Given the description of an element on the screen output the (x, y) to click on. 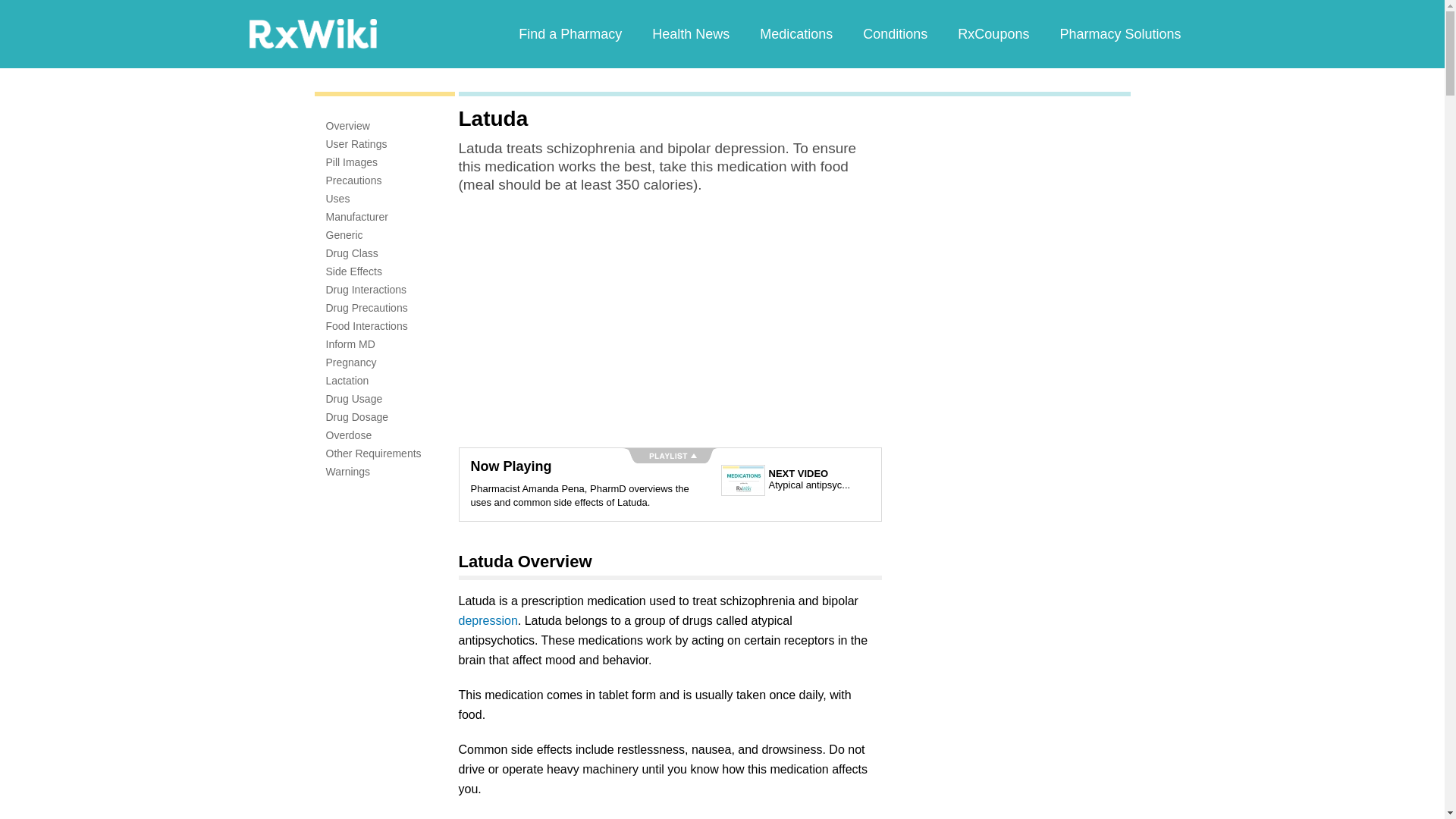
RxCoupons (992, 33)
Drug Class (352, 253)
Generic (344, 234)
Other Requirements (374, 453)
Pregnancy (351, 362)
Drug Usage (354, 398)
Precautions (353, 180)
Drug Interactions (366, 289)
Drug Precautions (366, 307)
Find a Pharmacy (570, 33)
Manufacturer (357, 216)
Inform MD (350, 344)
User Ratings (356, 143)
Medications (795, 33)
Health News (690, 33)
